Given the description of an element on the screen output the (x, y) to click on. 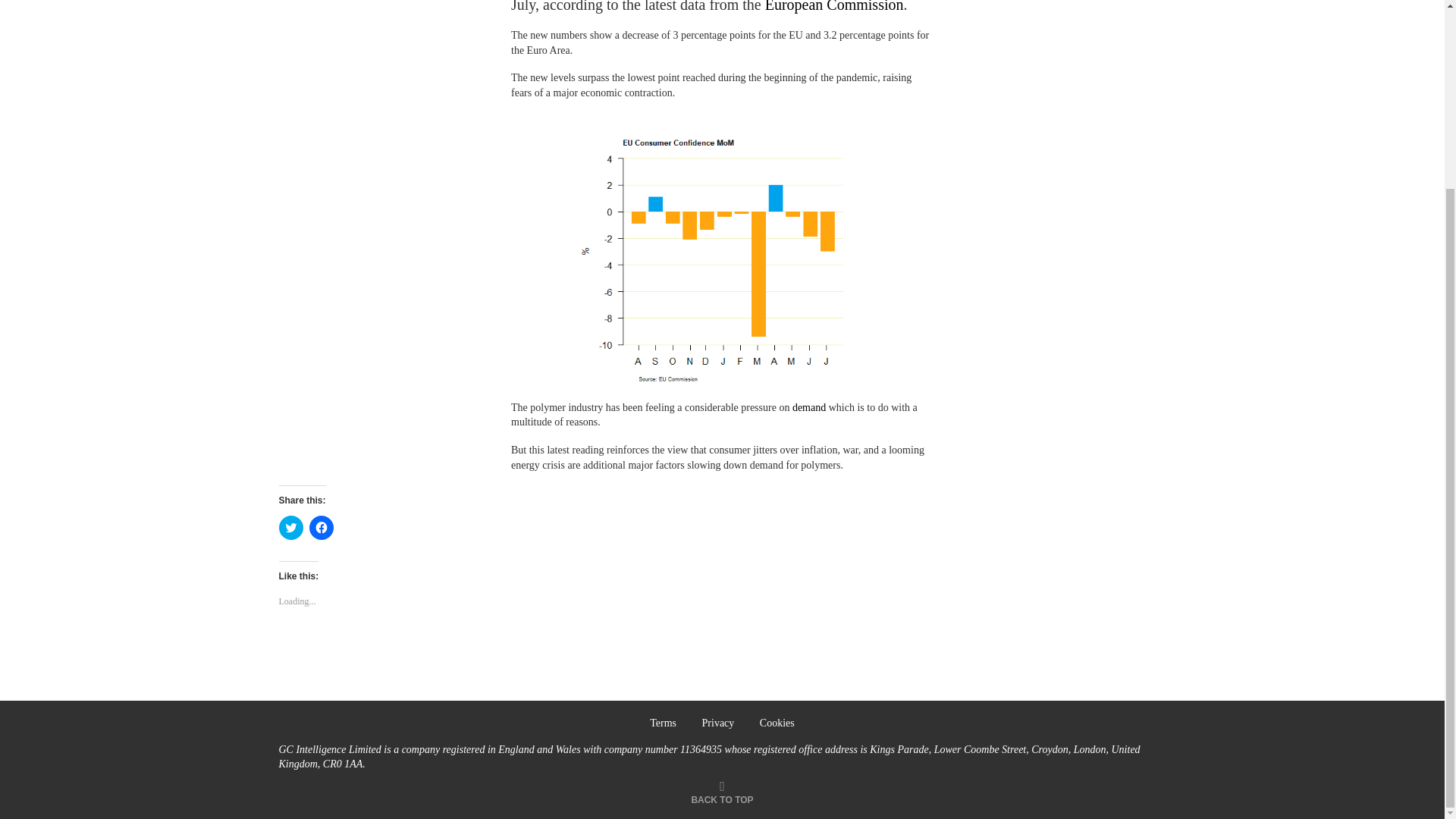
Click to share on Twitter (290, 527)
Click to share on Facebook (320, 527)
